Given the description of an element on the screen output the (x, y) to click on. 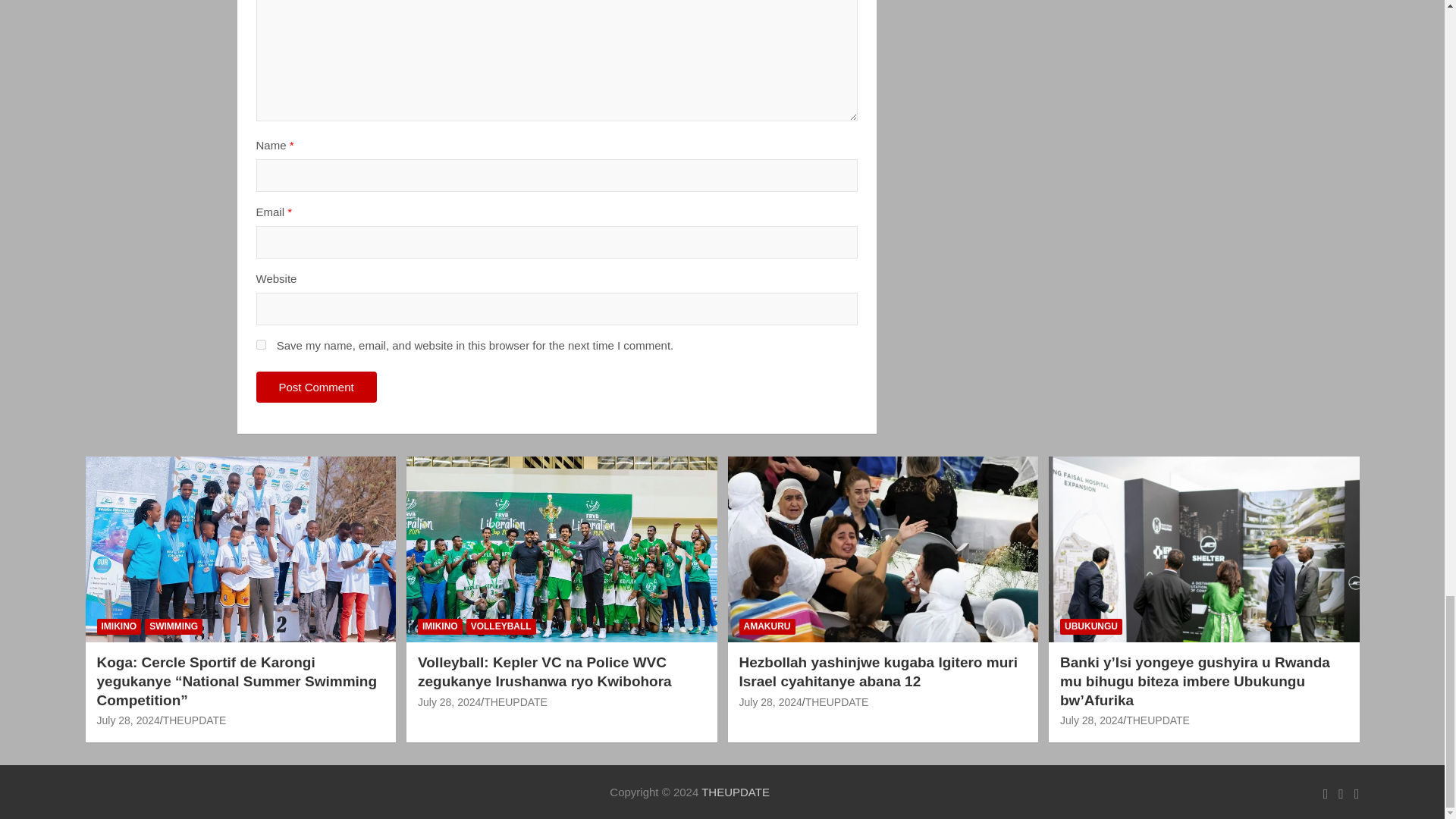
Post Comment (316, 386)
yes (261, 344)
